Given the description of an element on the screen output the (x, y) to click on. 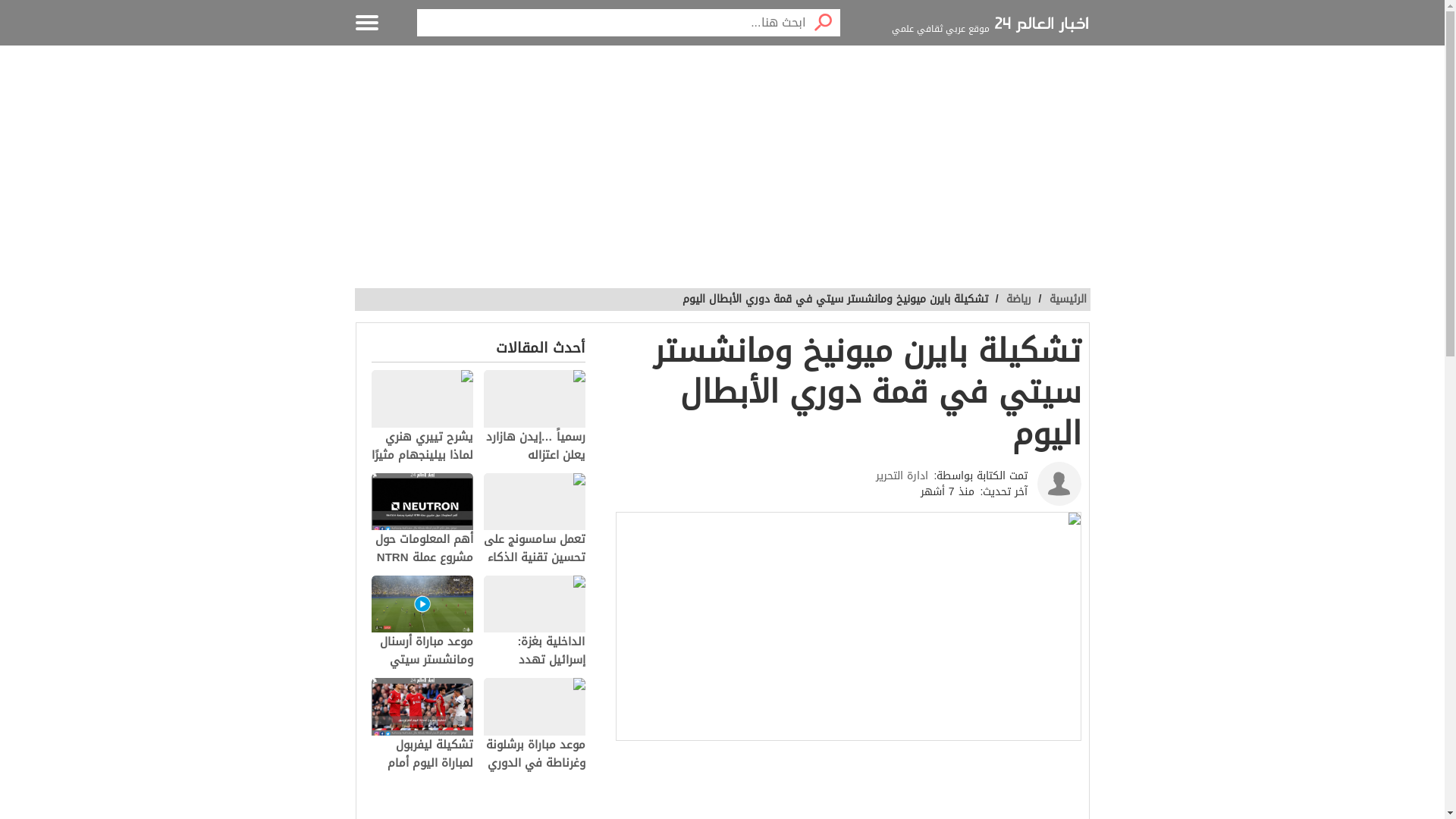
Advertisement Element type: hover (722, 166)
